Given the description of an element on the screen output the (x, y) to click on. 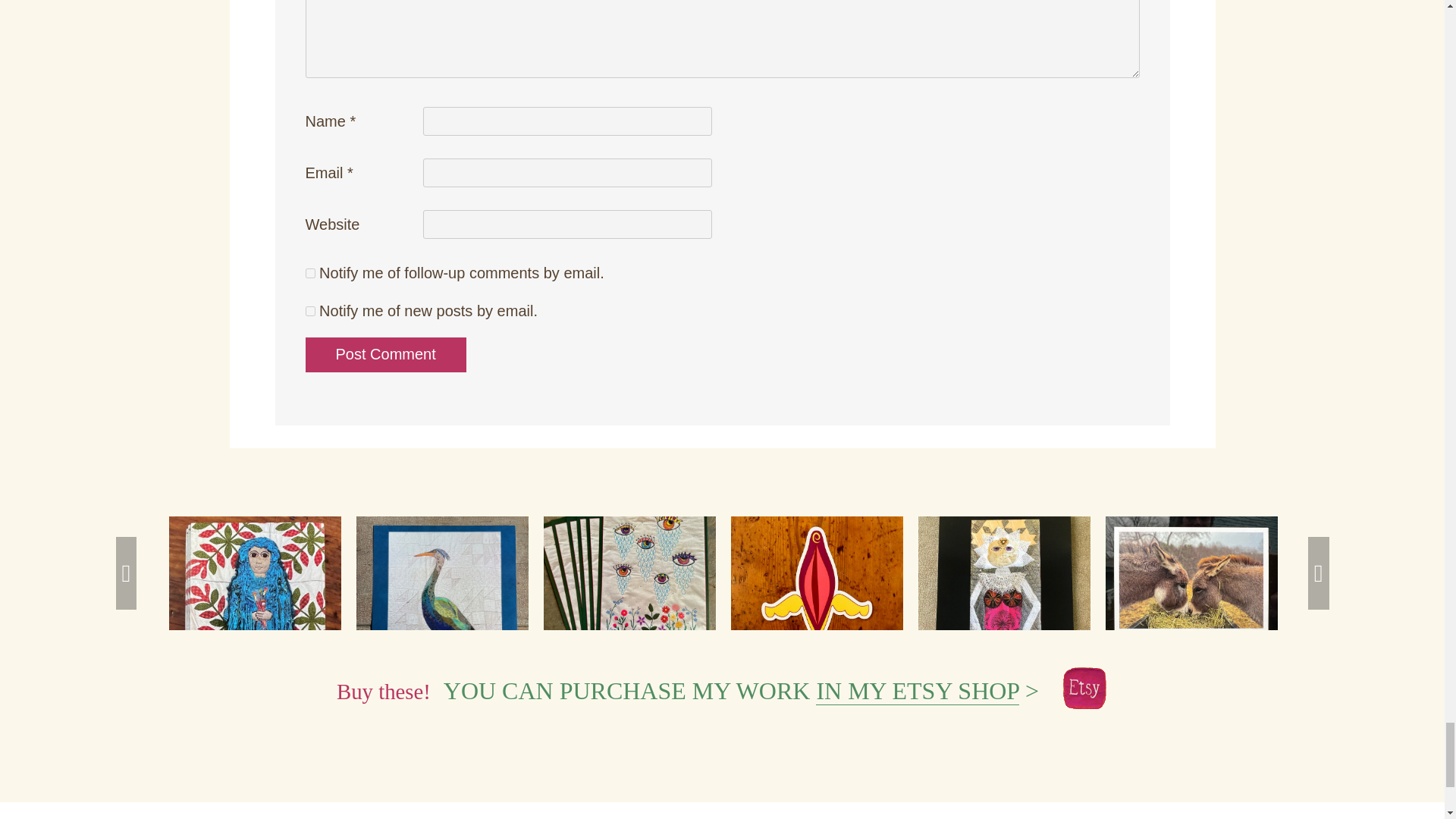
subscribe (309, 311)
subscribe (309, 273)
Post Comment (384, 354)
